Given the description of an element on the screen output the (x, y) to click on. 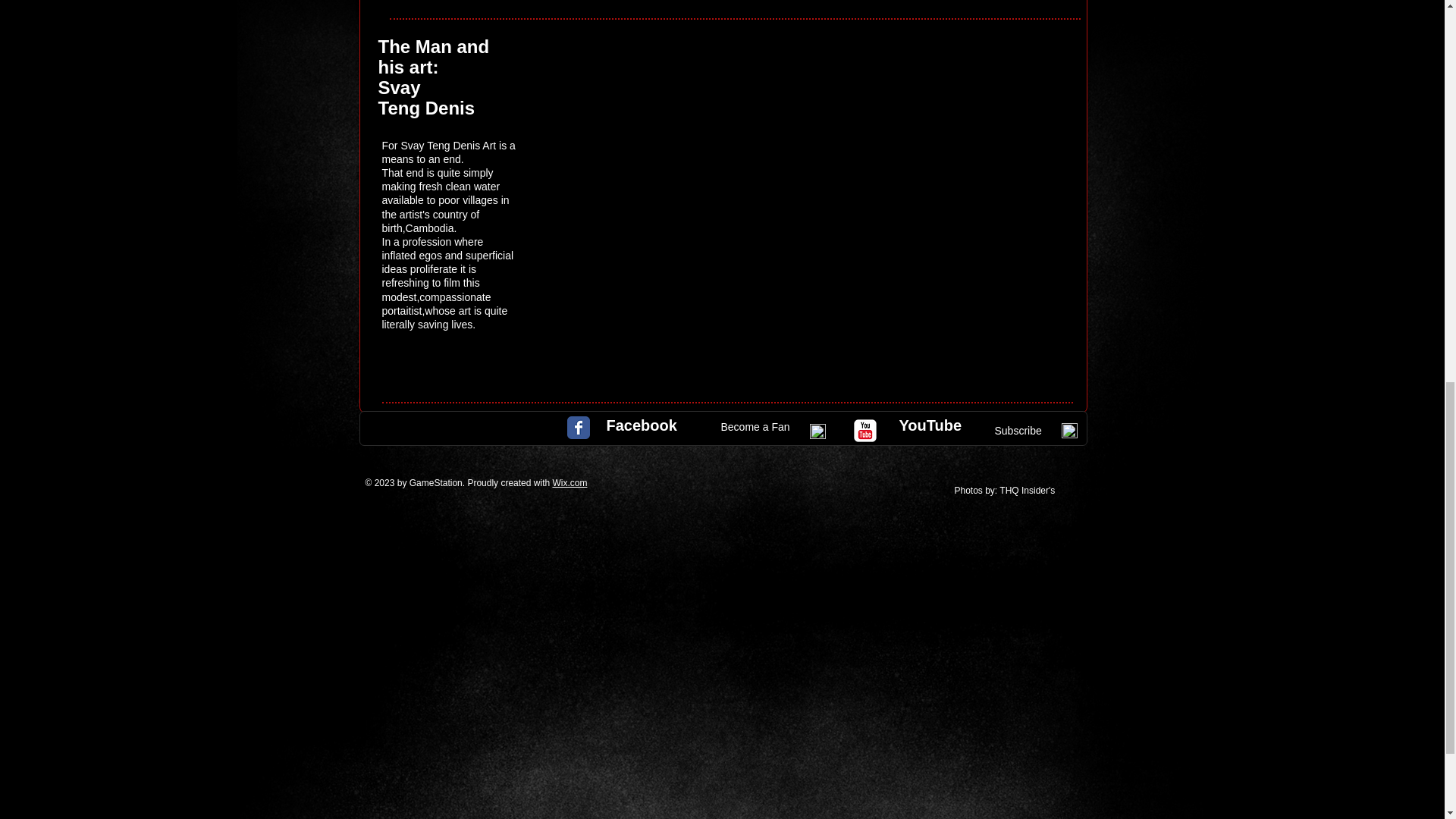
THQ Insider's  (1027, 490)
Wix.com (568, 482)
